Given the description of an element on the screen output the (x, y) to click on. 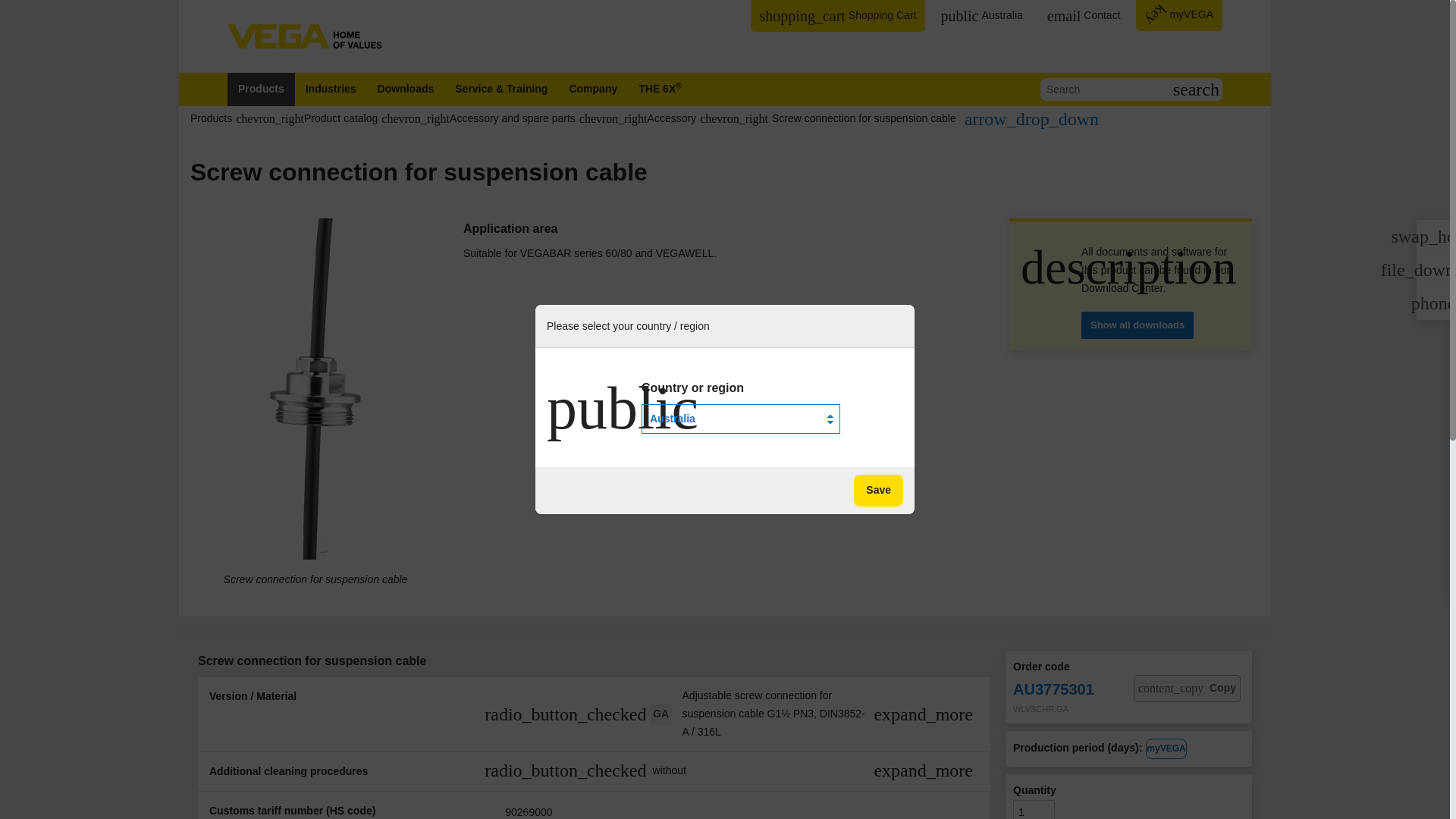
Products (210, 118)
Product catalog (306, 118)
Products (1083, 15)
Industries (261, 89)
Show all downloads (330, 89)
Company (1137, 325)
Screw connection for suspension cable (592, 89)
Save (863, 118)
1 (877, 490)
Accessory (1033, 809)
Accessory and spare parts (637, 118)
Screw connection for suspension cable (478, 118)
Downloads (935, 119)
